Given the description of an element on the screen output the (x, y) to click on. 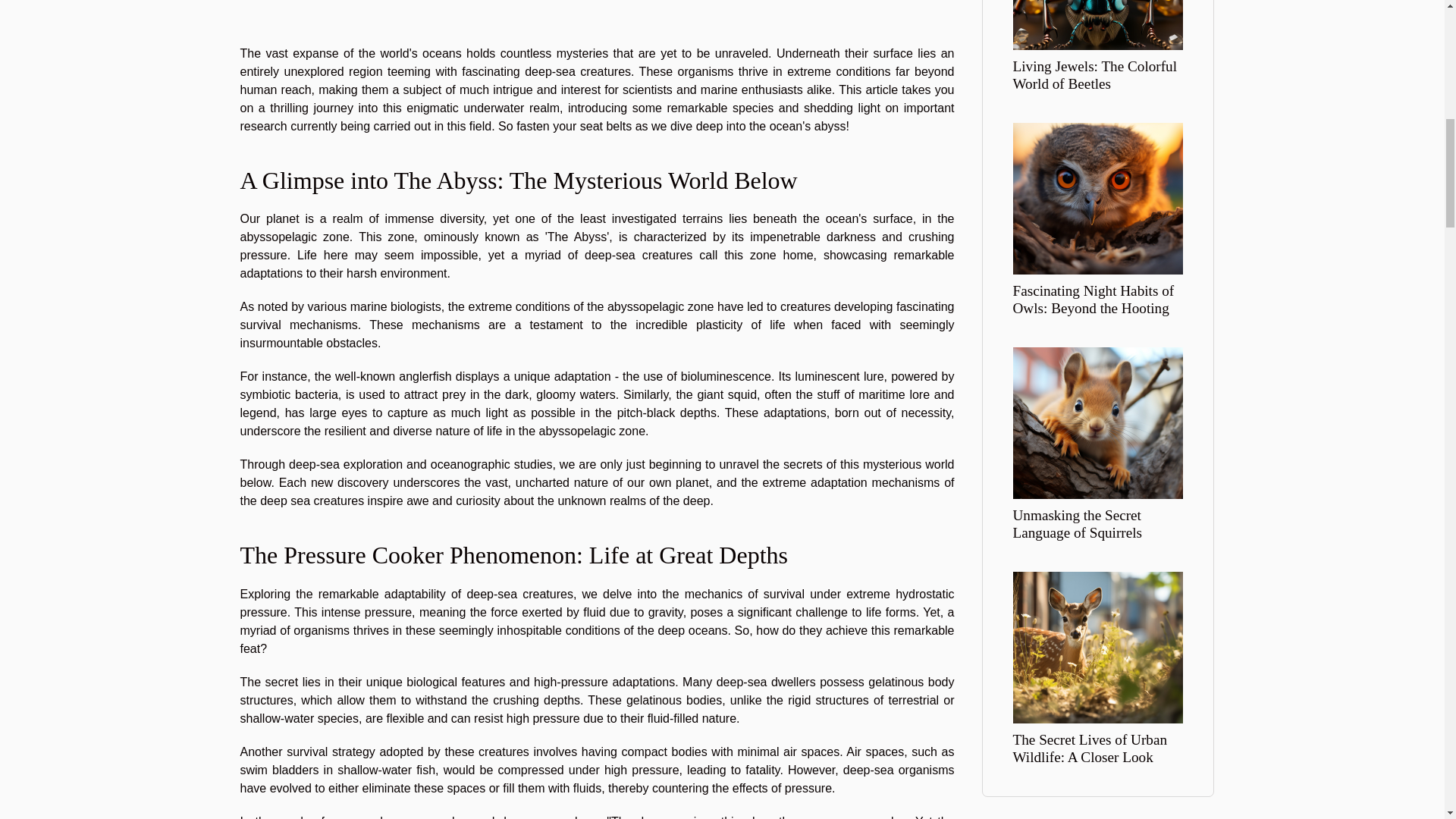
Fascinating Night Habits of Owls: Beyond the Hooting (1093, 299)
The Secret Lives of Urban Wildlife: A Closer Look (1090, 748)
The Secret Lives of Urban Wildlife: A Closer Look (1097, 645)
Fascinating Night Habits of Owls: Beyond the Hooting (1093, 299)
The Secret Lives of Urban Wildlife: A Closer Look (1090, 748)
Fascinating Night Habits of Owls: Beyond the Hooting (1097, 196)
Living Jewels: The Colorful World of Beetles (1095, 74)
Living Jewels: The Colorful World of Beetles (1095, 74)
Unmasking the Secret Language of Squirrels (1077, 523)
Unmasking the Secret Language of Squirrels (1077, 523)
Unmasking the Secret Language of Squirrels (1097, 421)
